Given the description of an element on the screen output the (x, y) to click on. 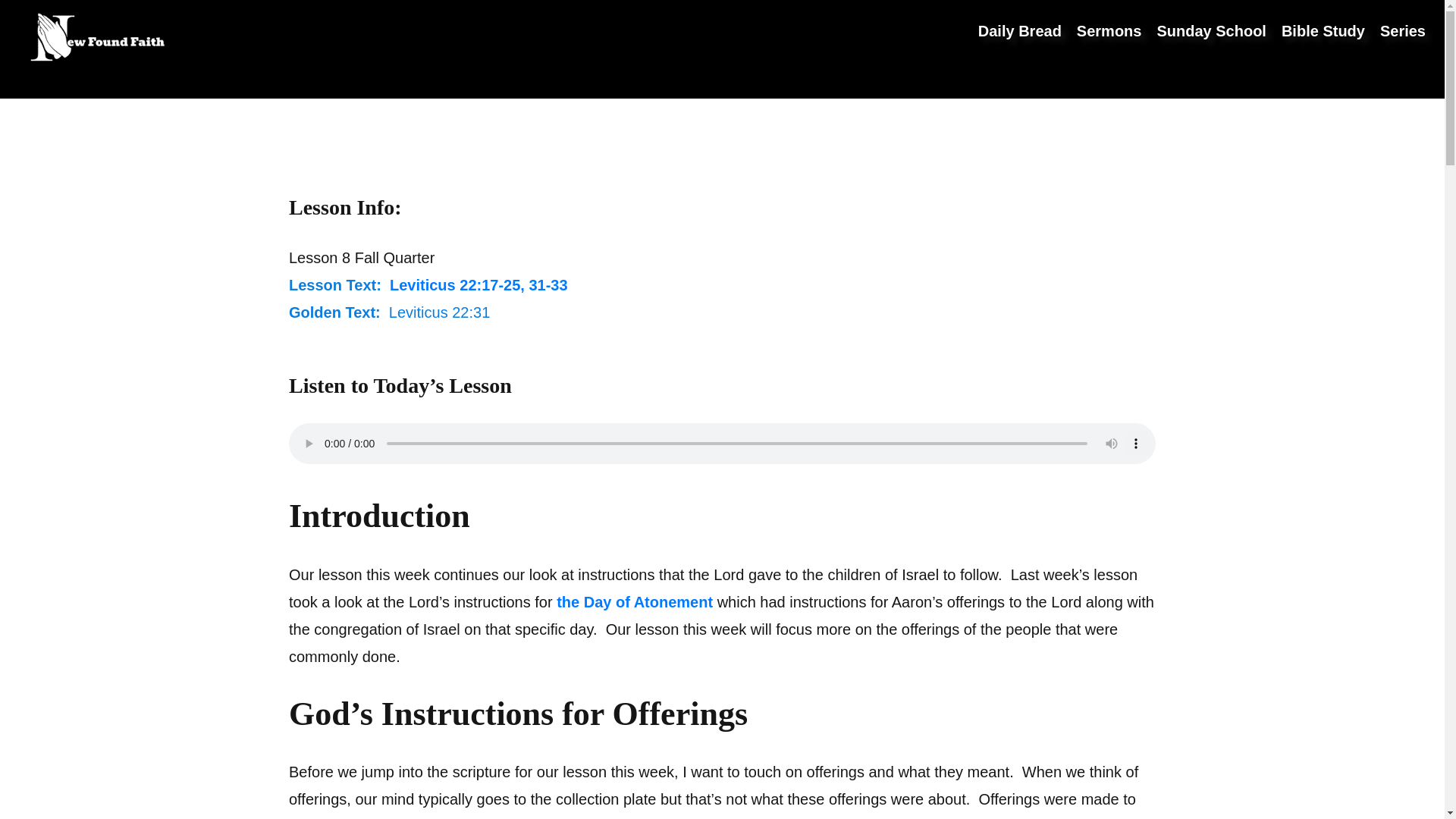
the Day of Atonement (634, 601)
Sunday School (1210, 30)
Leviticus 22:17-25, 31-33 (478, 284)
Daily Bread (1019, 30)
Sermons (1109, 30)
Series (1402, 30)
Bible Study (1323, 30)
